Given the description of an element on the screen output the (x, y) to click on. 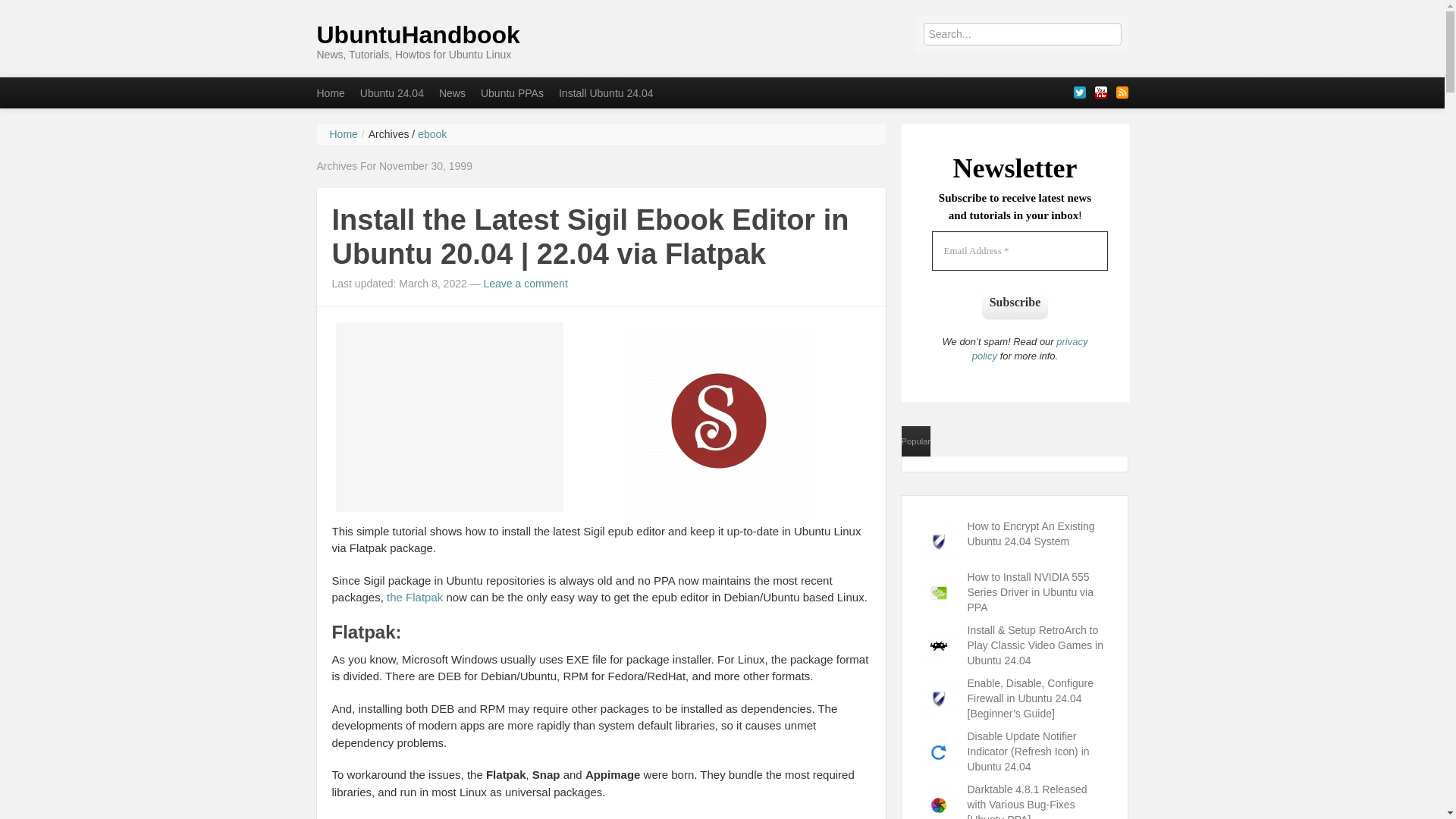
Home (330, 92)
Install Ubuntu 24.04 (606, 92)
News (451, 92)
Ubuntu PPAs (512, 92)
Ubuntu 24.04 (391, 92)
UbuntuHandbook (418, 34)
Home (342, 133)
Ubuntu 24.04 (391, 92)
Home (330, 92)
Ubuntu PPAs (512, 92)
UbuntuHandbook (418, 34)
Leave a comment (525, 283)
ebook (431, 133)
the Flatpak (414, 596)
News (451, 92)
